Given the description of an element on the screen output the (x, y) to click on. 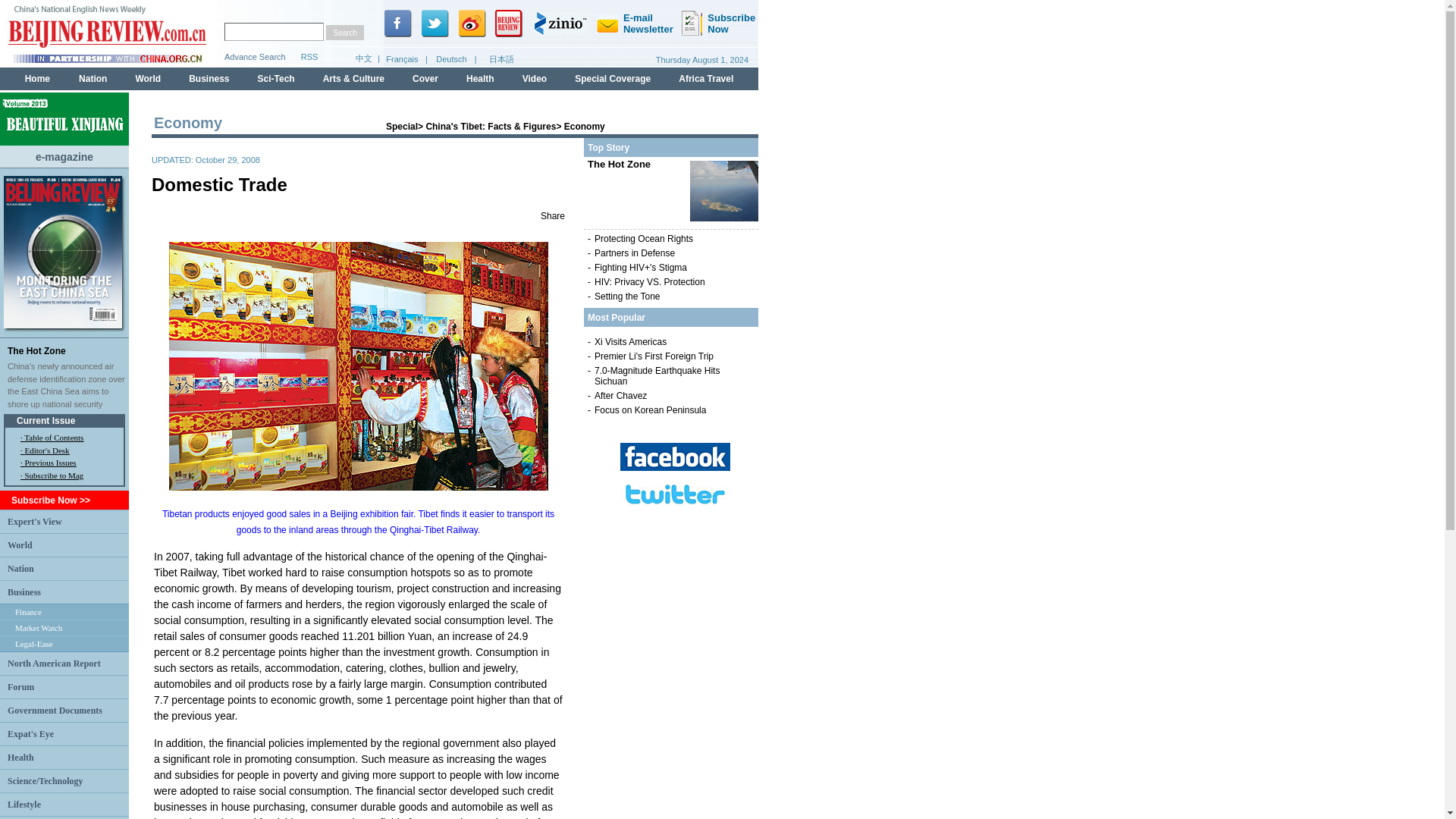
Table of Contents (53, 437)
Finance (28, 611)
Expert's View (34, 520)
e-magazine (63, 155)
Current Issue (45, 420)
Previous Issues (49, 461)
The Hot Zone (36, 350)
Market Watch (38, 627)
North American Report (53, 663)
Lifestyle (23, 804)
